Given the description of an element on the screen output the (x, y) to click on. 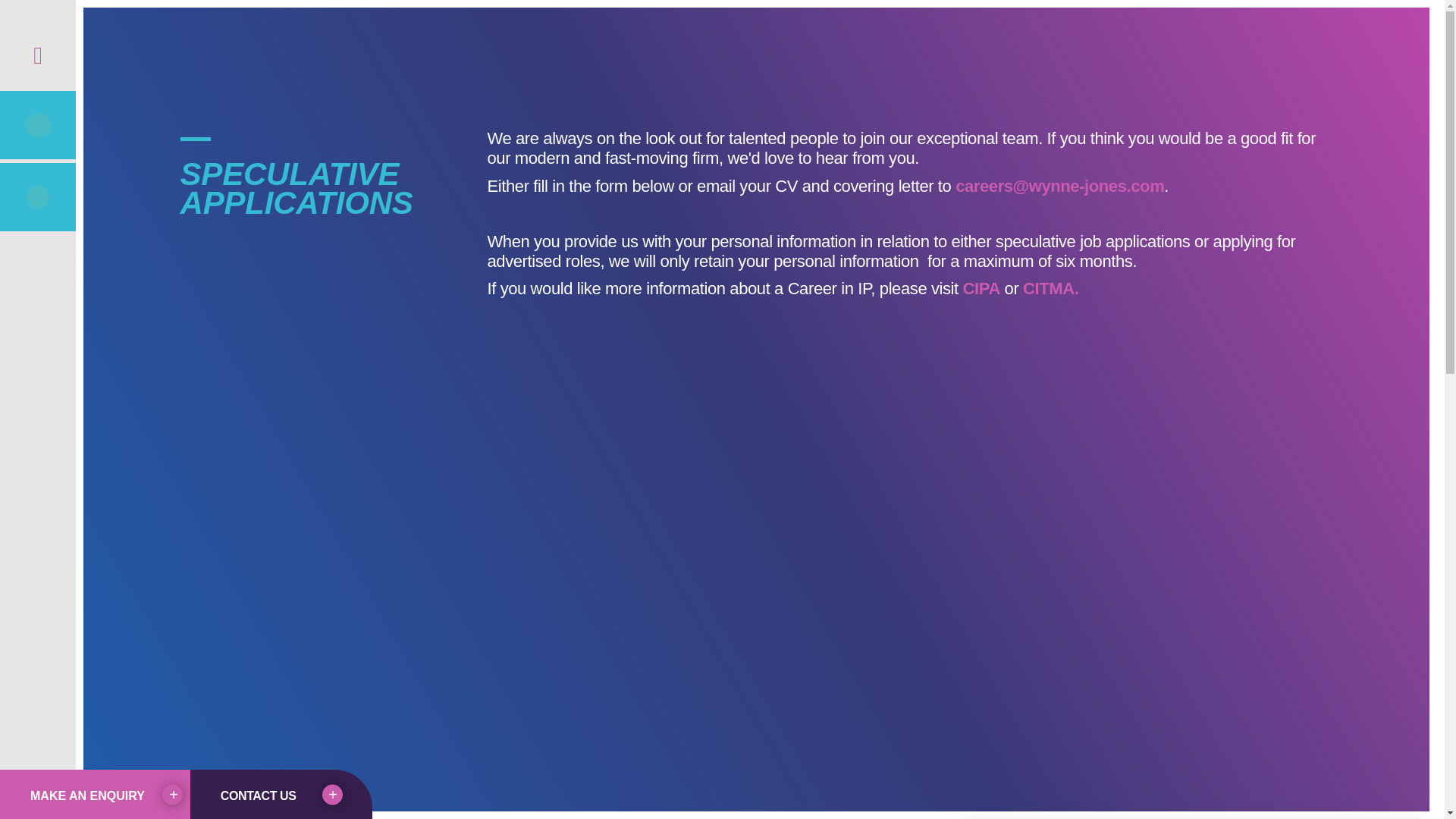
Wynne Jones IP (1326, 53)
CITMA (1048, 288)
CIPA  (983, 288)
Wynne Jones IP (1326, 53)
